Given the description of an element on the screen output the (x, y) to click on. 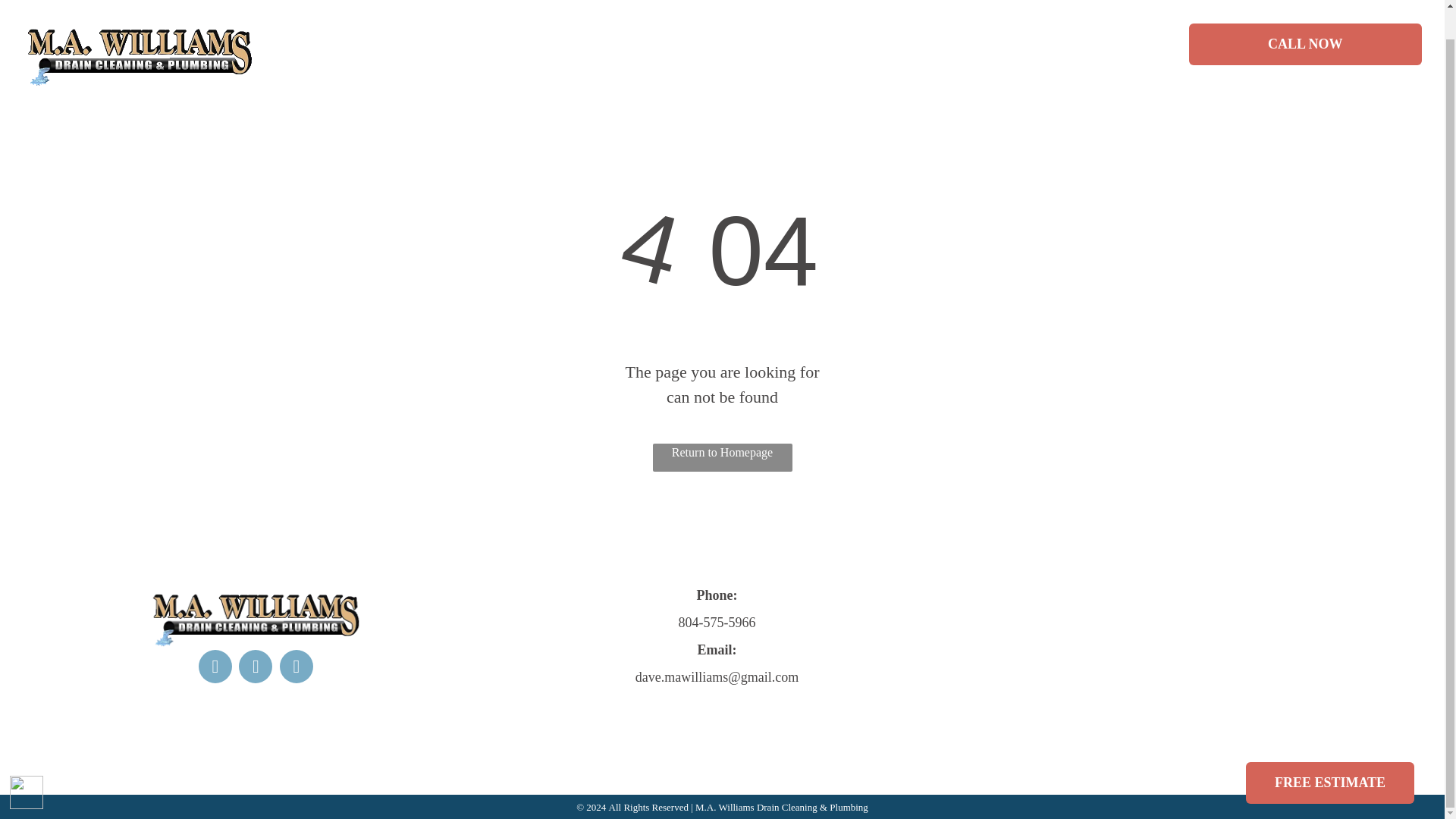
CONTACT (1023, 17)
CALL NOW (1305, 18)
FAQ (936, 17)
BLOG (744, 17)
HOME (410, 17)
SERVICES (843, 17)
MEET THE TEAM (526, 17)
CAREERS (653, 17)
Return to Homepage (722, 457)
FREE ESTIMATE (1329, 752)
